Given the description of an element on the screen output the (x, y) to click on. 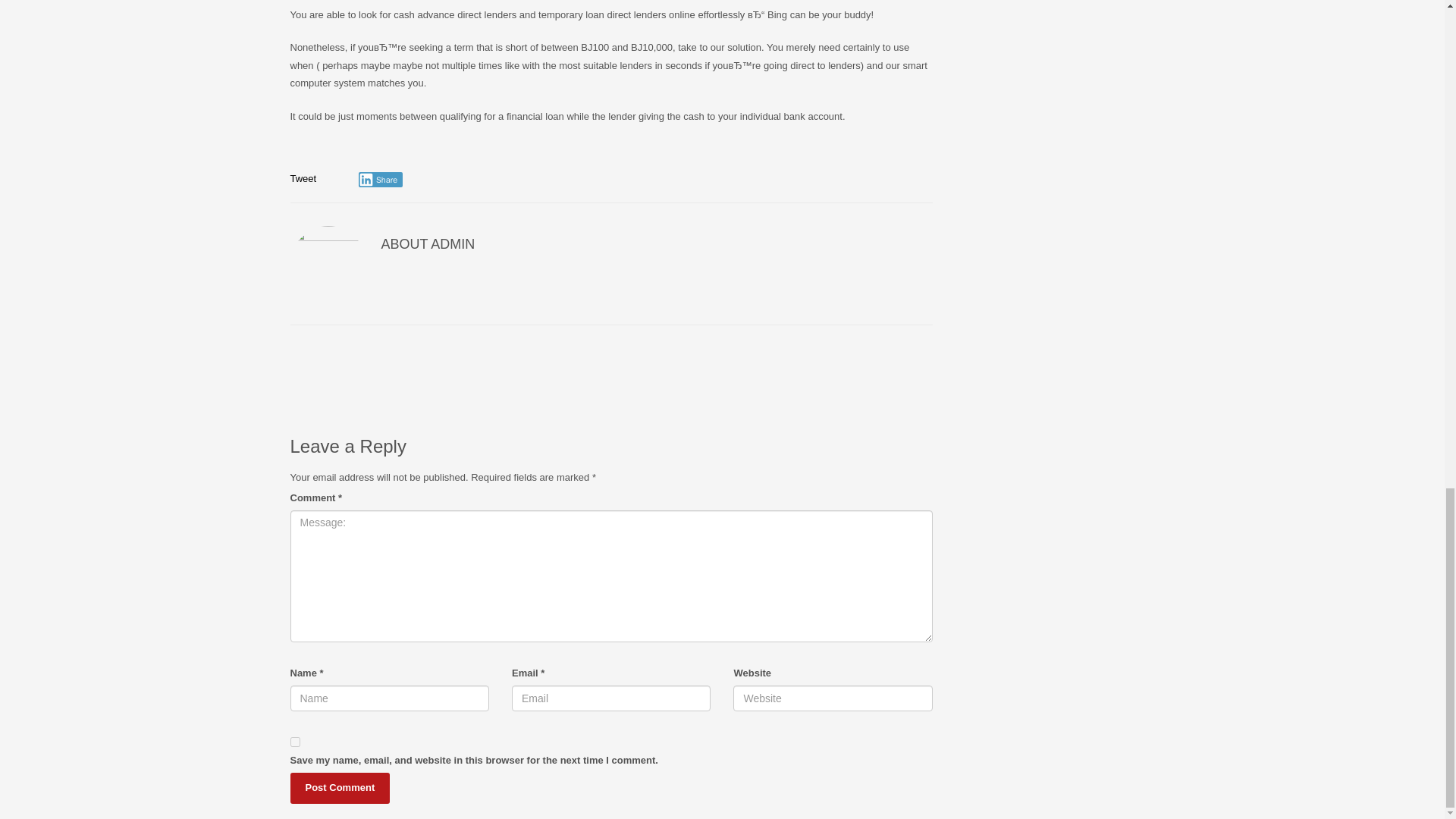
Post Comment (339, 788)
yes (294, 741)
Tweet (302, 178)
Post Comment (339, 788)
Share (380, 179)
